Given the description of an element on the screen output the (x, y) to click on. 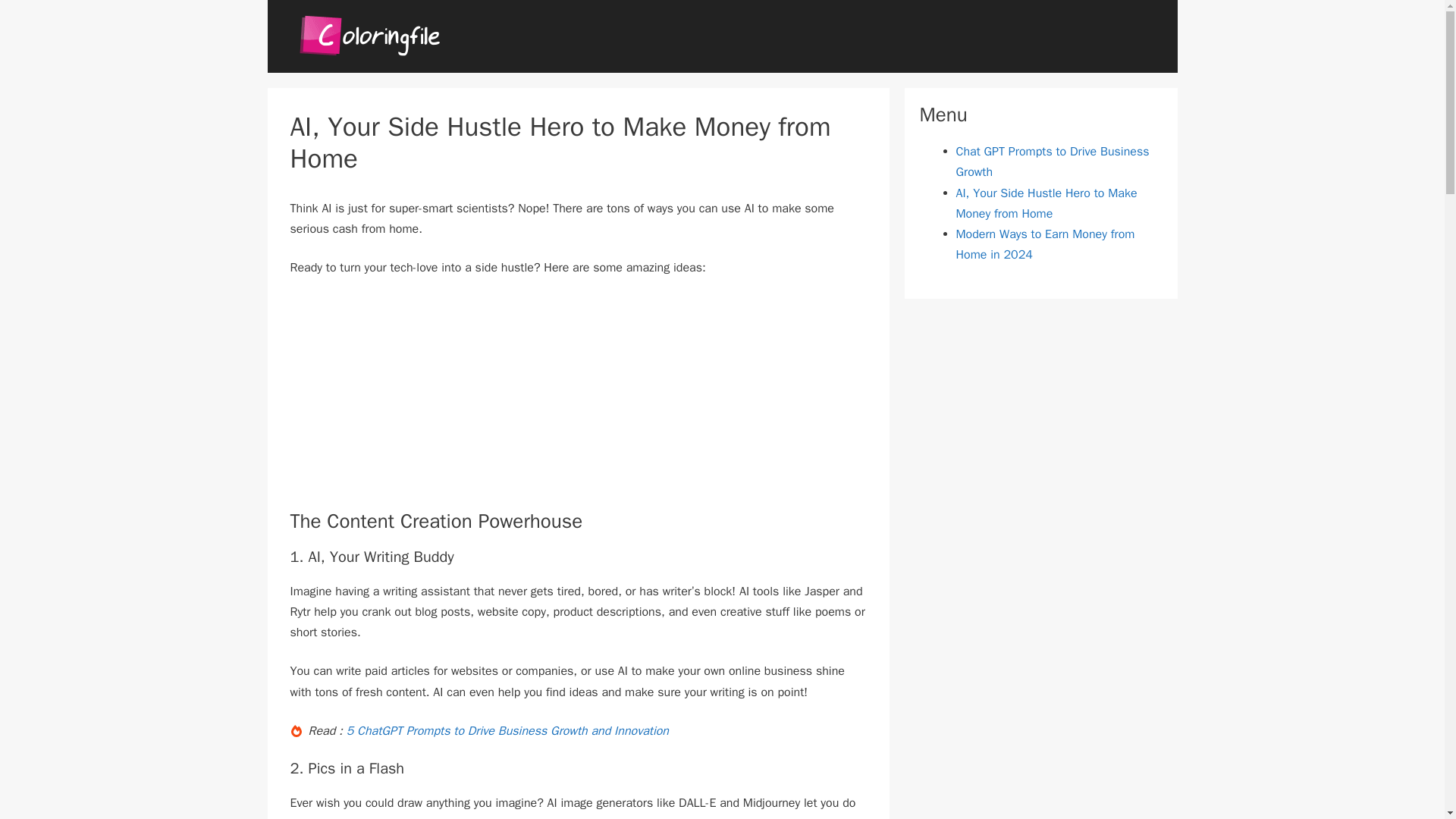
Advertisement (577, 403)
Modern Ways to Earn Money from Home in 2024 (1044, 244)
AI, Your Side Hustle Hero to Make Money from Home (1046, 203)
5 ChatGPT Prompts to Drive Business Growth and Innovation (507, 730)
Chat GPT Prompts to Drive Business Growth (1051, 161)
